Given the description of an element on the screen output the (x, y) to click on. 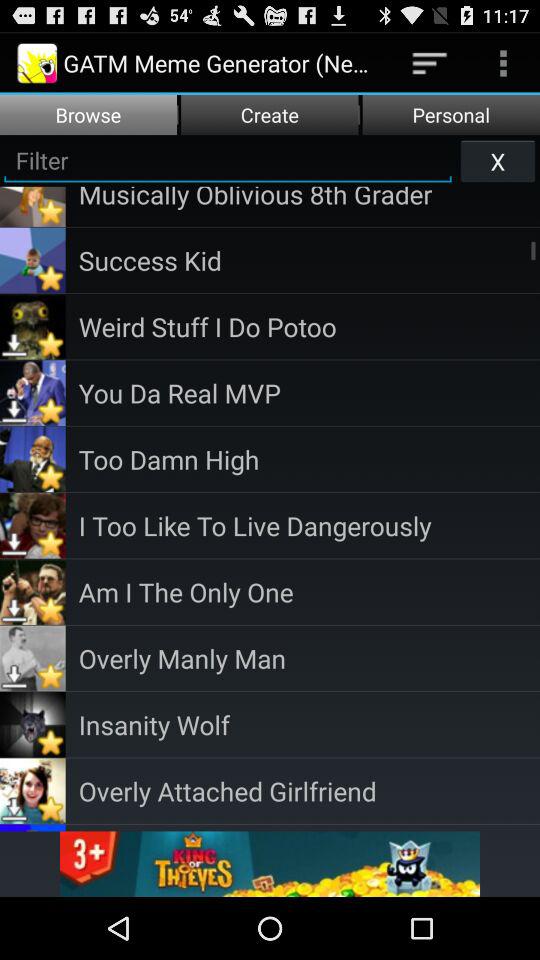
turn on the app below you da real item (309, 458)
